Given the description of an element on the screen output the (x, y) to click on. 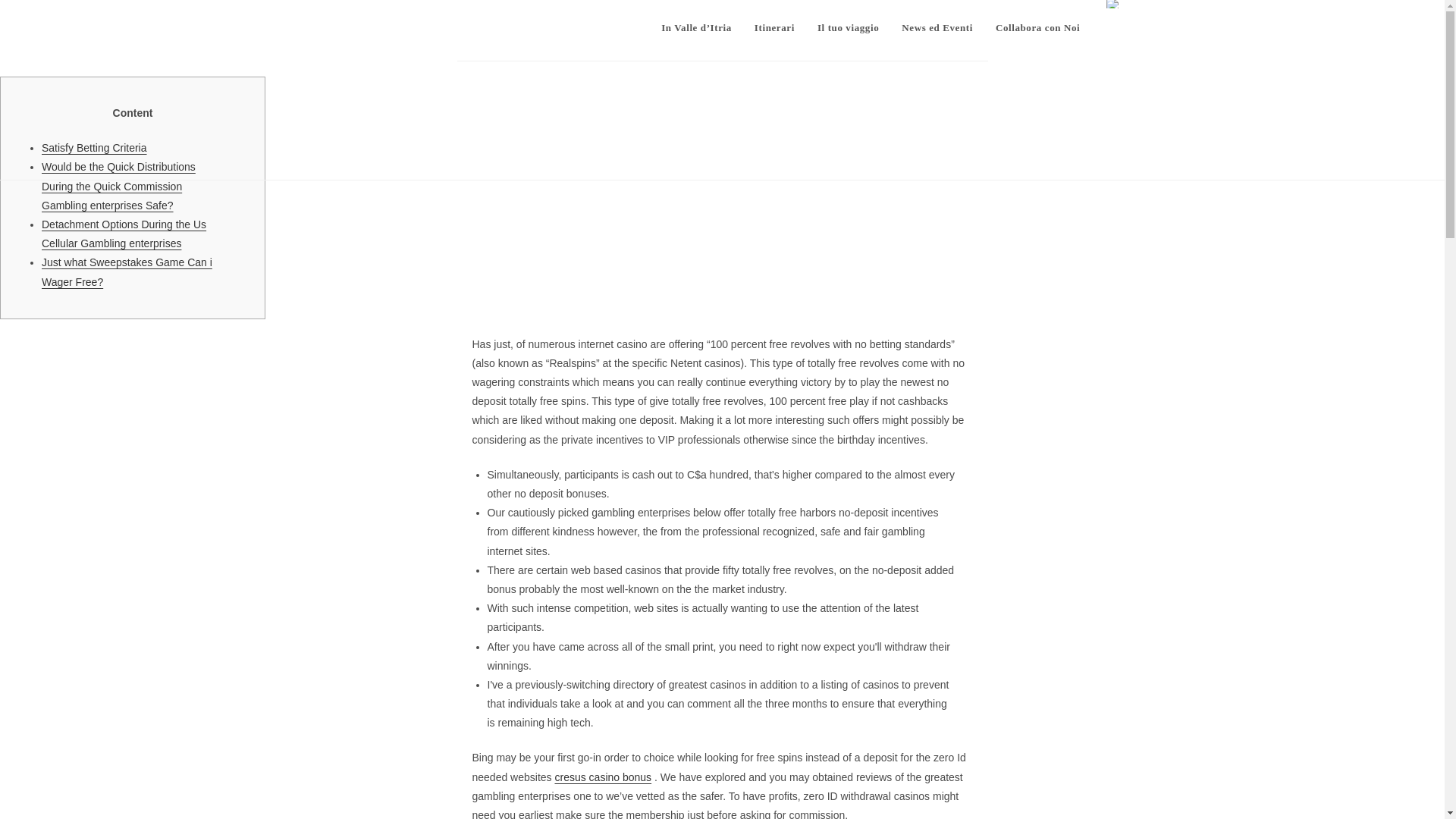
Collabora con Noi (1037, 28)
English (1112, 4)
Itinerari (774, 28)
cresus casino bonus (602, 776)
Just what Sweepstakes Game Can i Wager Free? (127, 271)
Il tuo viaggio (847, 28)
Satisfy Betting Criteria (94, 147)
News ed Eventi (936, 28)
